Given the description of an element on the screen output the (x, y) to click on. 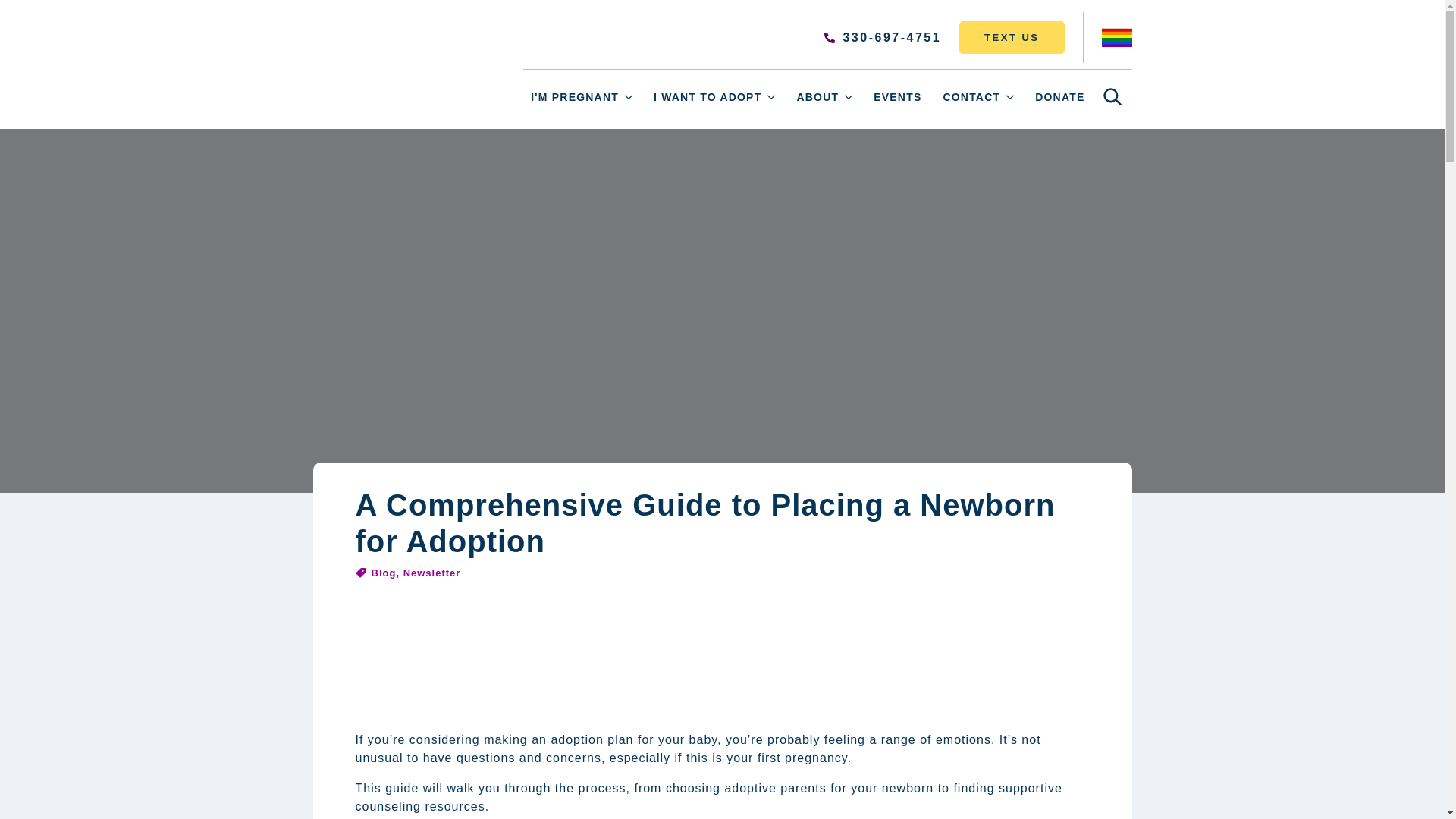
330-697-4751 (882, 37)
TEXT US (1011, 37)
I WANT TO ADOPT (703, 96)
CONTACT (967, 96)
I'M PREGNANT (570, 96)
EVENTS (897, 96)
Newsletter (432, 572)
ABOUT (813, 96)
Blog (383, 572)
DONATE (1059, 96)
